Given the description of an element on the screen output the (x, y) to click on. 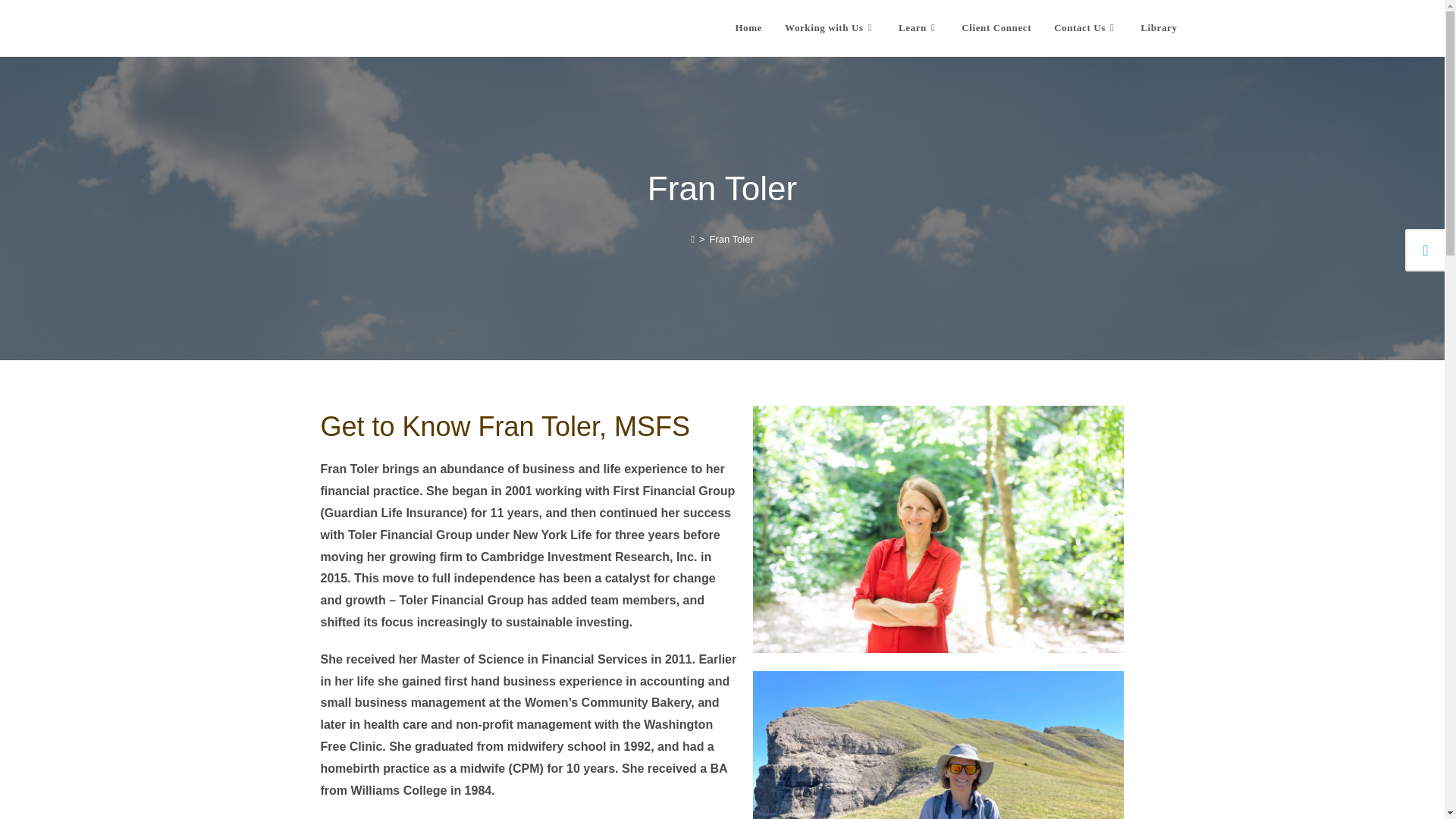
Learn (918, 28)
Library (1158, 28)
Client Connect (996, 28)
Contact Us (1085, 28)
Home (748, 28)
Working with Us (829, 28)
Toler Financial Group (359, 27)
